Given the description of an element on the screen output the (x, y) to click on. 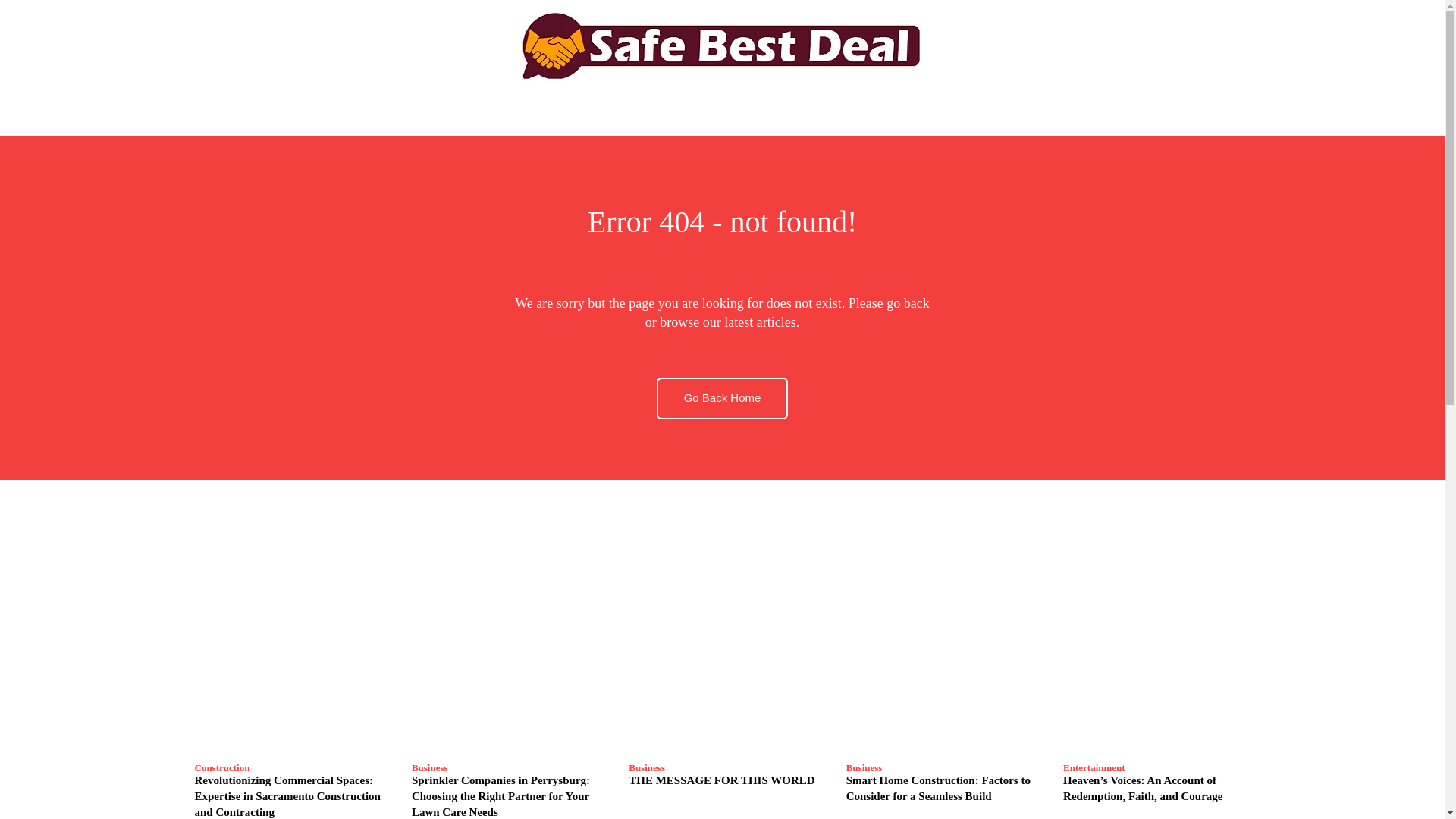
Business (863, 767)
Business (646, 767)
THE MESSAGE FOR THIS WORLD (721, 705)
Go Back Home (722, 398)
